Given the description of an element on the screen output the (x, y) to click on. 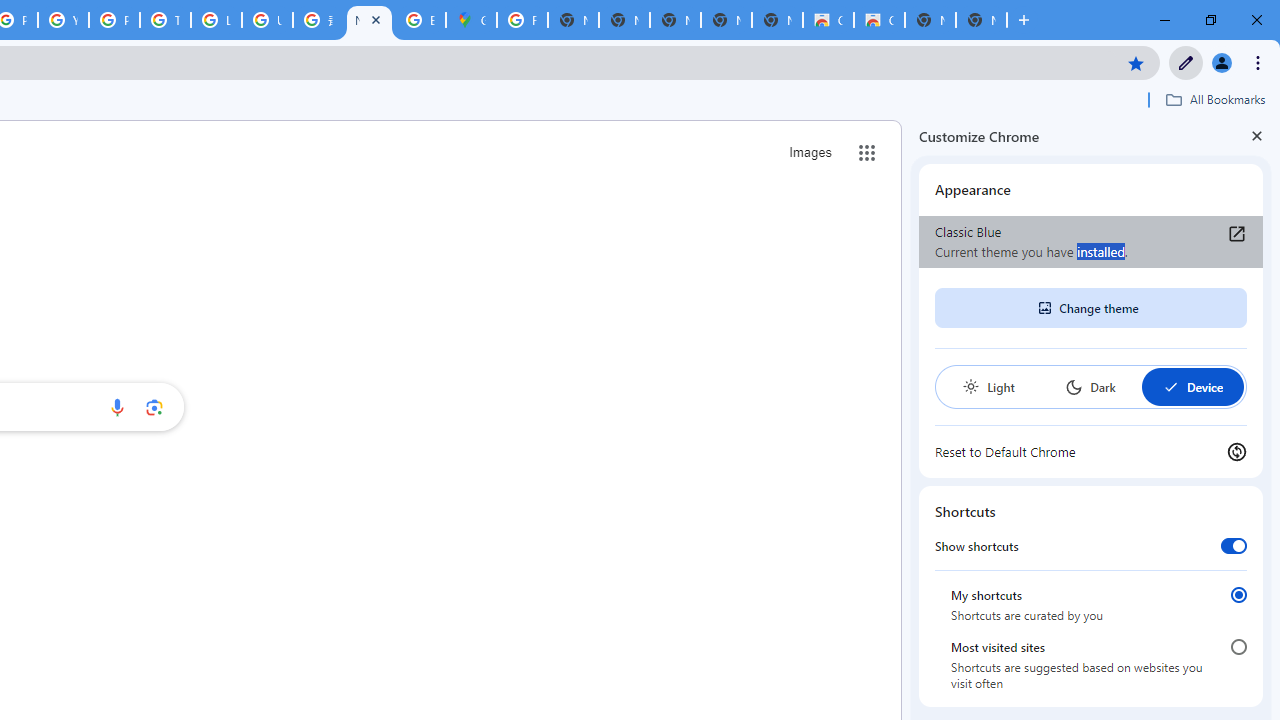
Reset to Default Chrome (1091, 452)
Light (988, 386)
Classic Blue Current theme you have installed. (1091, 241)
Explore new street-level details - Google Maps Help (420, 20)
YouTube (63, 20)
Dark (1090, 386)
AutomationID: baseSvg (1170, 386)
Show shortcuts (1233, 545)
New Tab (369, 20)
